Given the description of an element on the screen output the (x, y) to click on. 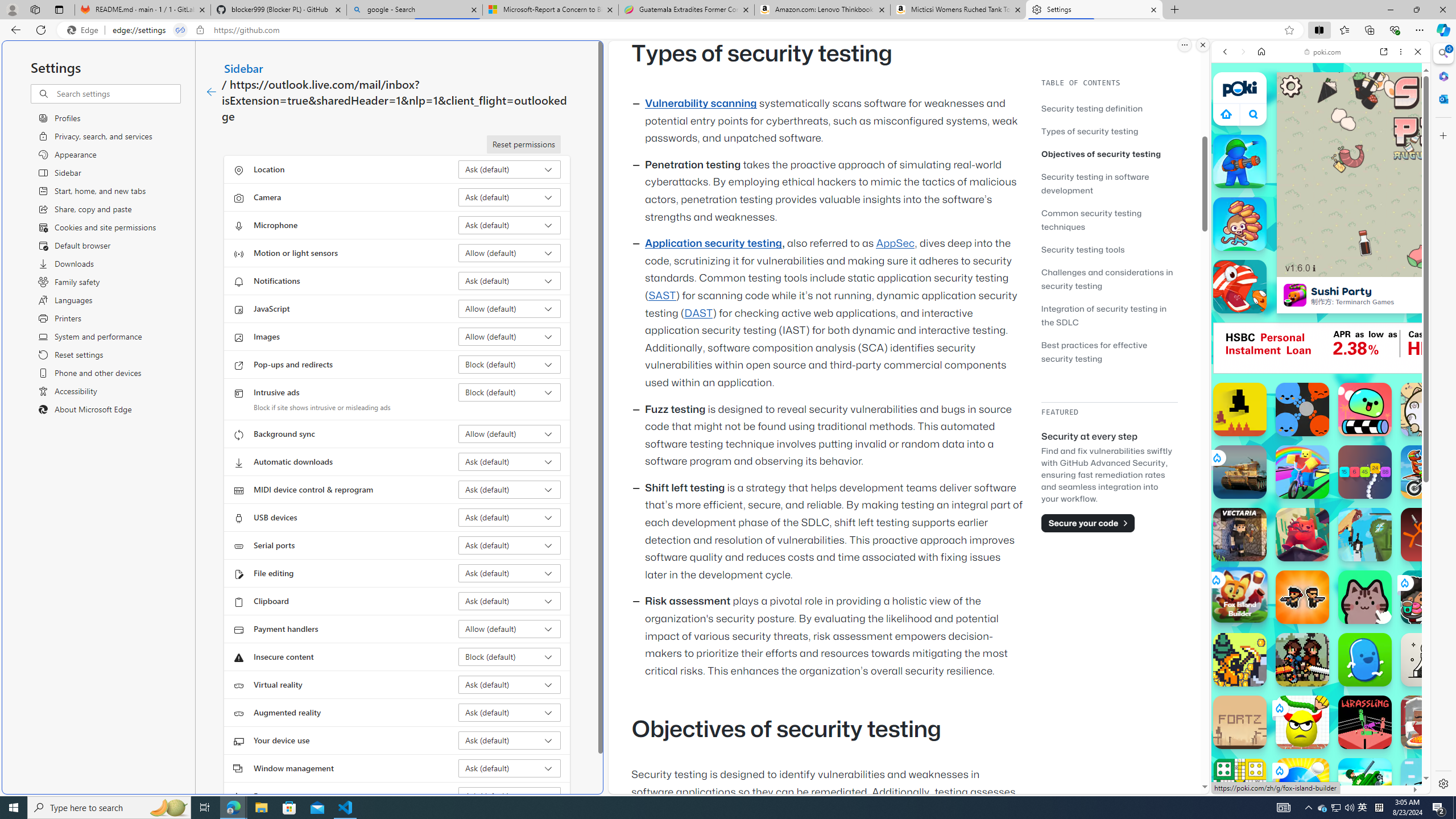
Getaway Shootout Getaway Shootout (1364, 534)
